Given the description of an element on the screen output the (x, y) to click on. 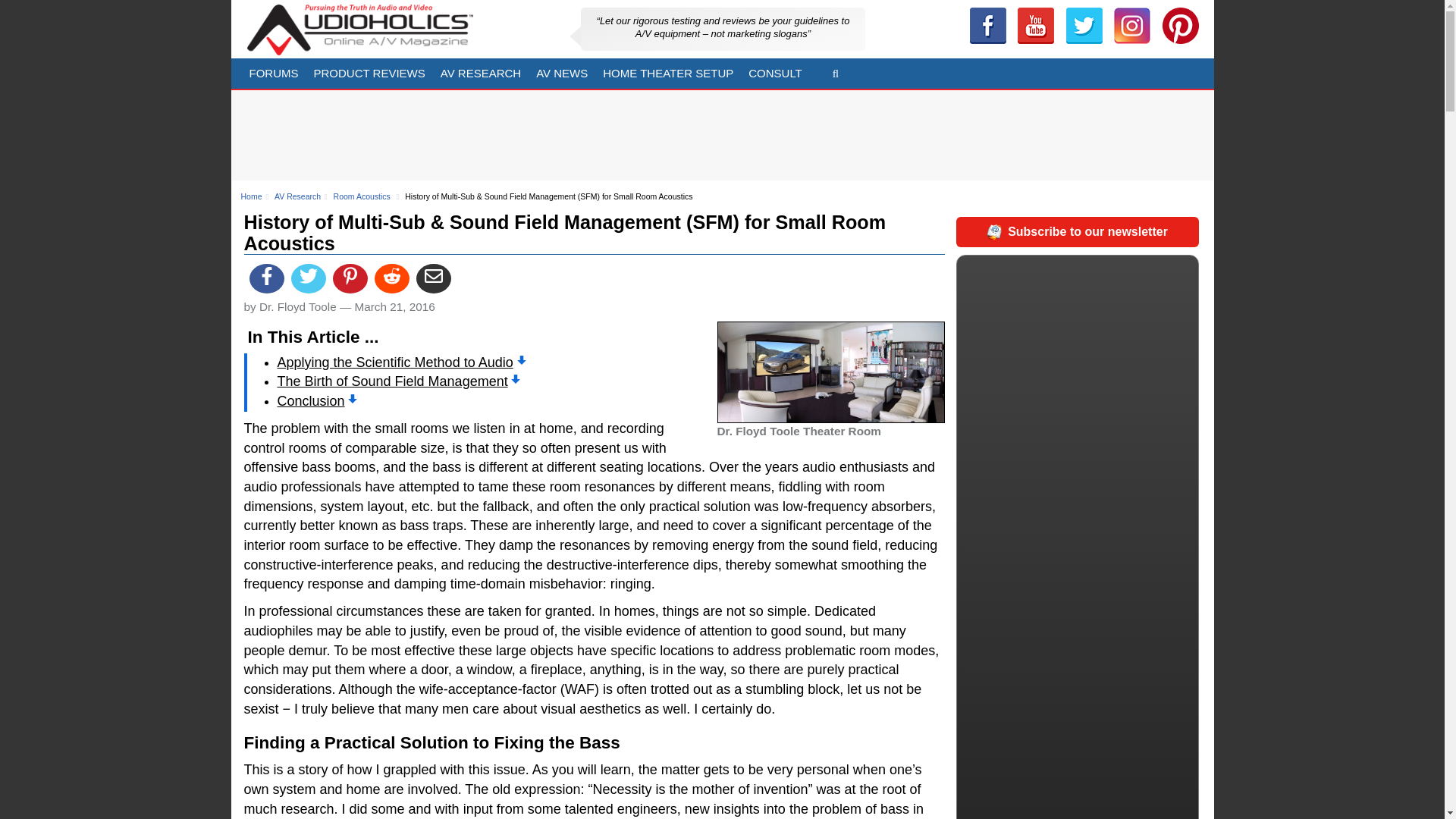
Twitter (1083, 25)
Audioholics Youtube (1035, 25)
FORUMS (273, 73)
share on twitter (308, 278)
PRODUCT REVIEWS (368, 73)
instagram (1132, 25)
share on reddit (391, 278)
share on pinterest (350, 278)
share on facebook (265, 278)
email (433, 278)
